Given the description of an element on the screen output the (x, y) to click on. 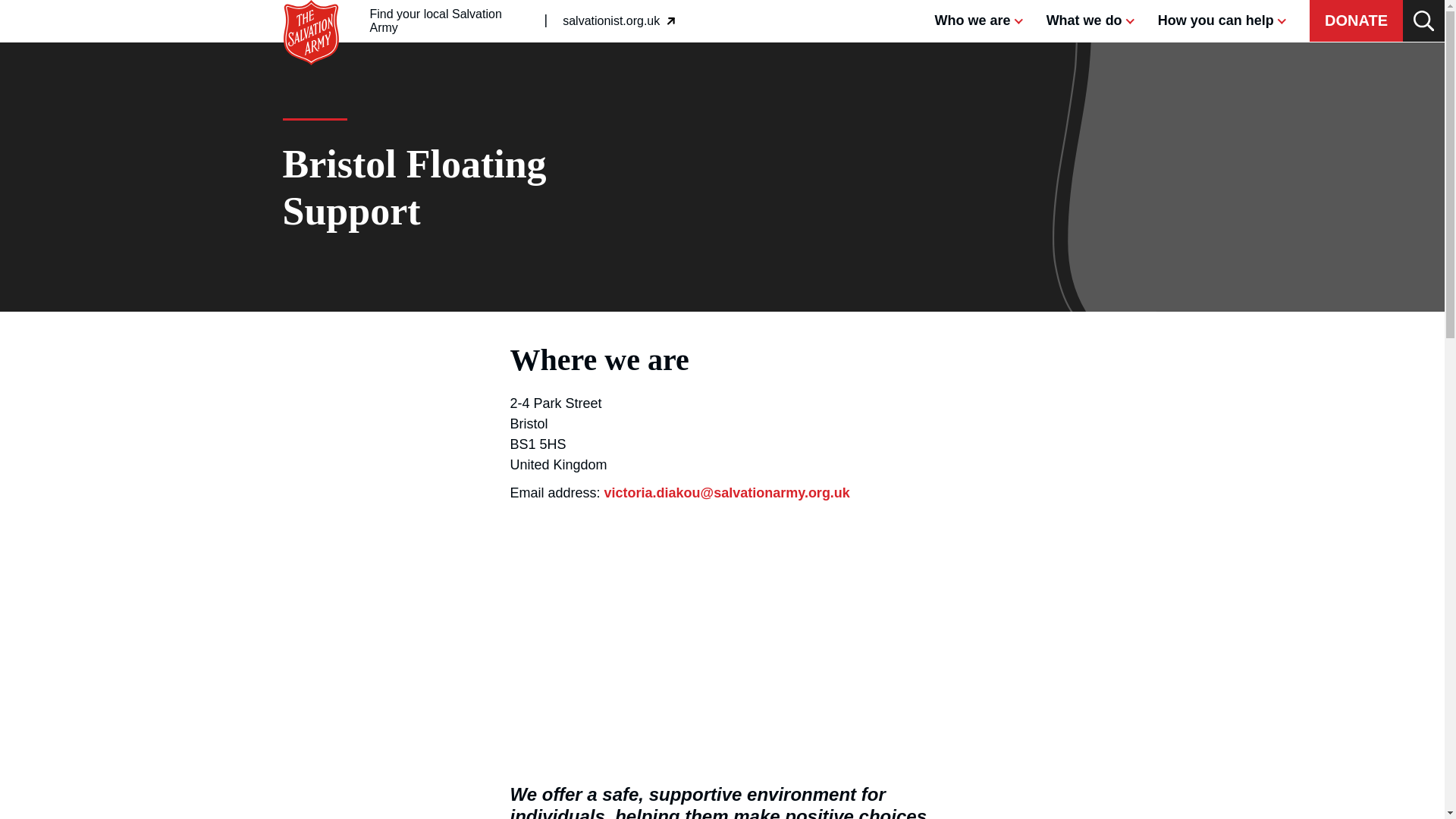
Home (618, 20)
Find your local Salvation Army (310, 7)
